Given the description of an element on the screen output the (x, y) to click on. 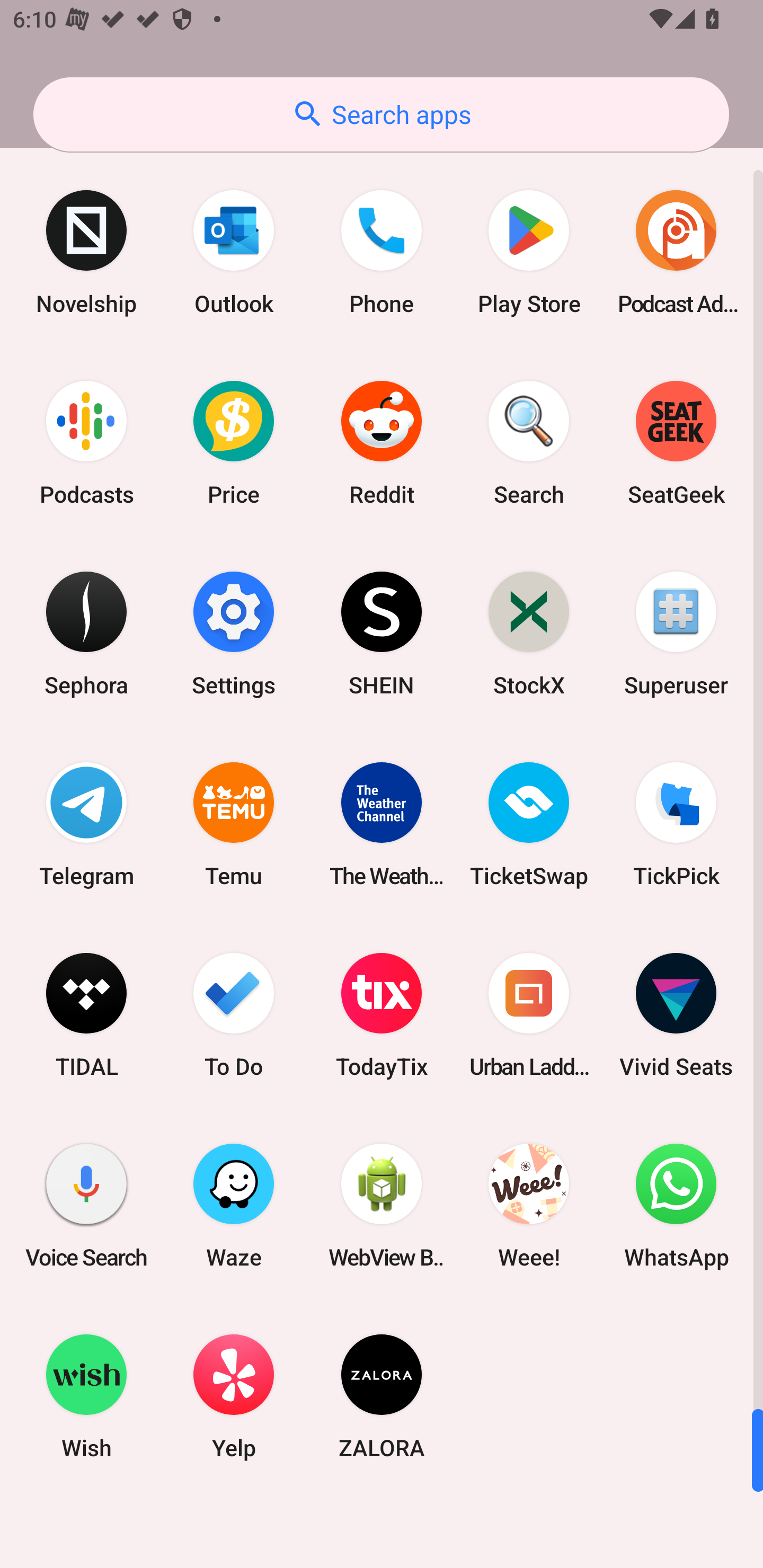
Yelp (233, 1396)
